Given the description of an element on the screen output the (x, y) to click on. 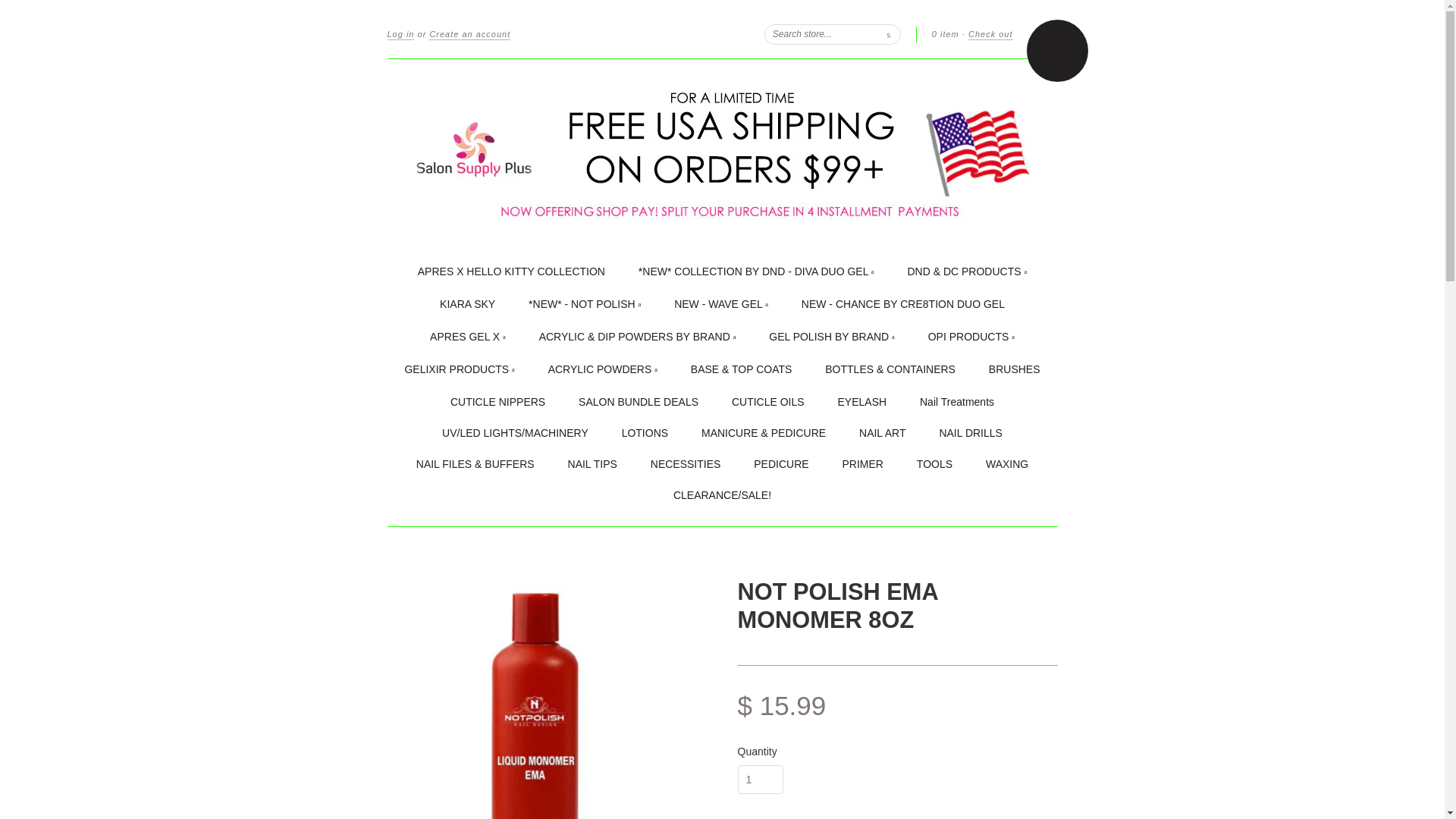
Log in (400, 34)
0 item (945, 34)
APRES X HELLO KITTY COLLECTION (511, 271)
Create an account (470, 34)
1 (759, 778)
Check out (990, 34)
Search (888, 33)
